Given the description of an element on the screen output the (x, y) to click on. 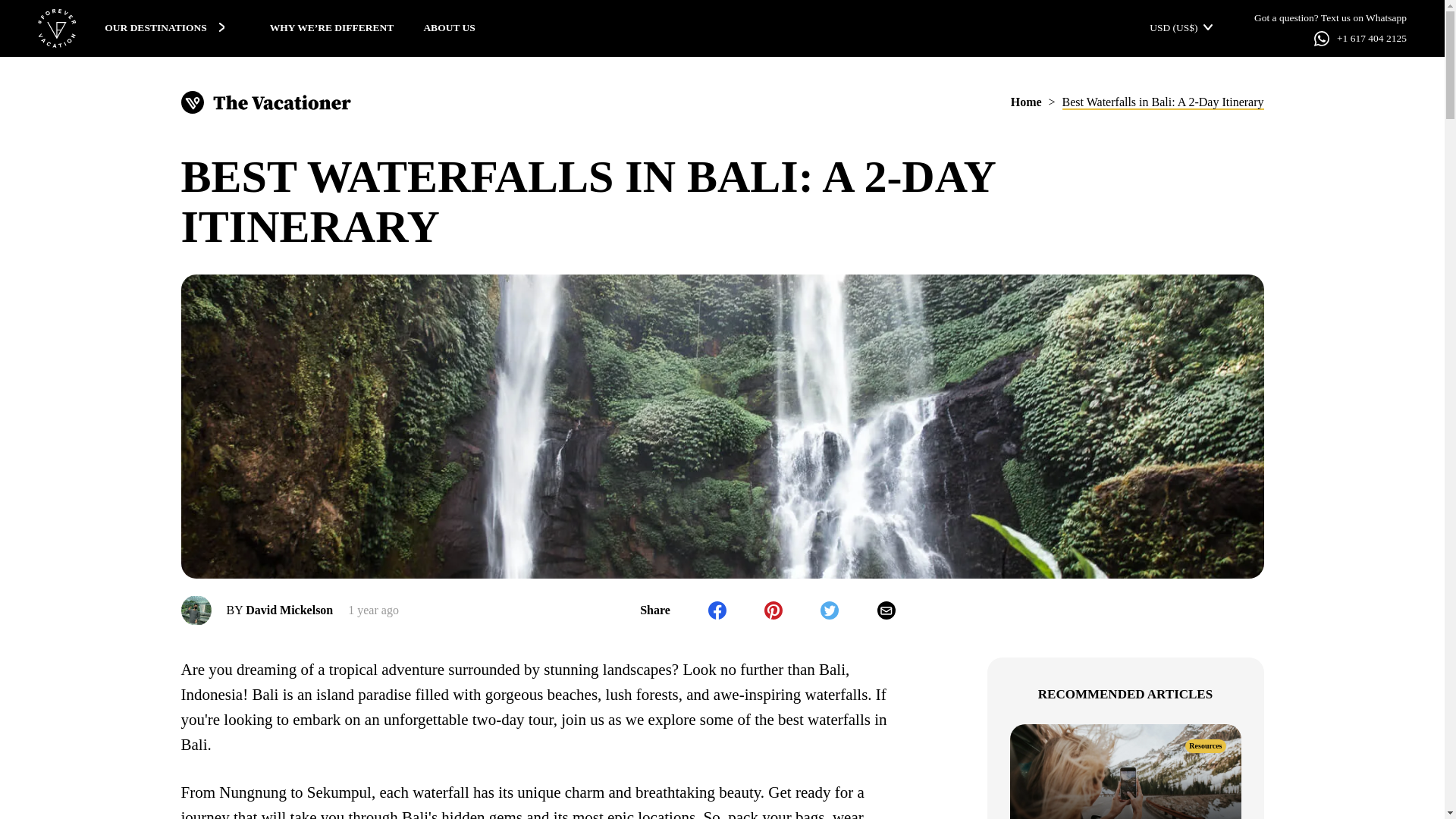
OUR DESTINATIONS (165, 28)
